Given the description of an element on the screen output the (x, y) to click on. 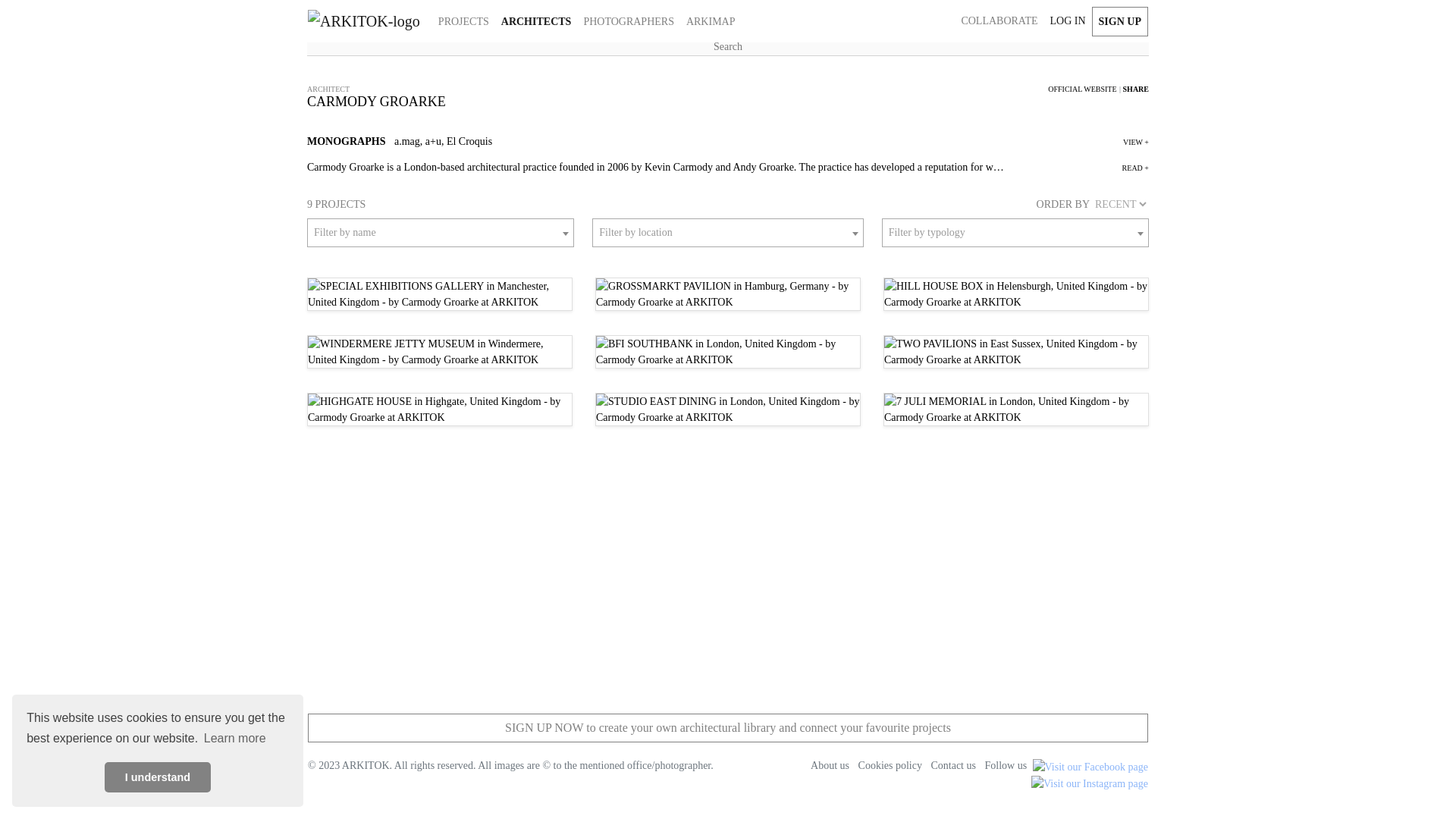
Cookies policy (886, 765)
OFFICIAL WEBSITE (1083, 88)
LOG IN (1067, 19)
ARCHITECTS (536, 21)
PROJECTS (463, 21)
Filter by name (440, 232)
Learn more (234, 738)
PHOTOGRAPHERS (627, 21)
ARKIMAP (710, 21)
SHARE (1135, 88)
COLLABORATE (999, 19)
About us (826, 765)
Filter by location (726, 232)
Filter by typology (1015, 232)
